Given the description of an element on the screen output the (x, y) to click on. 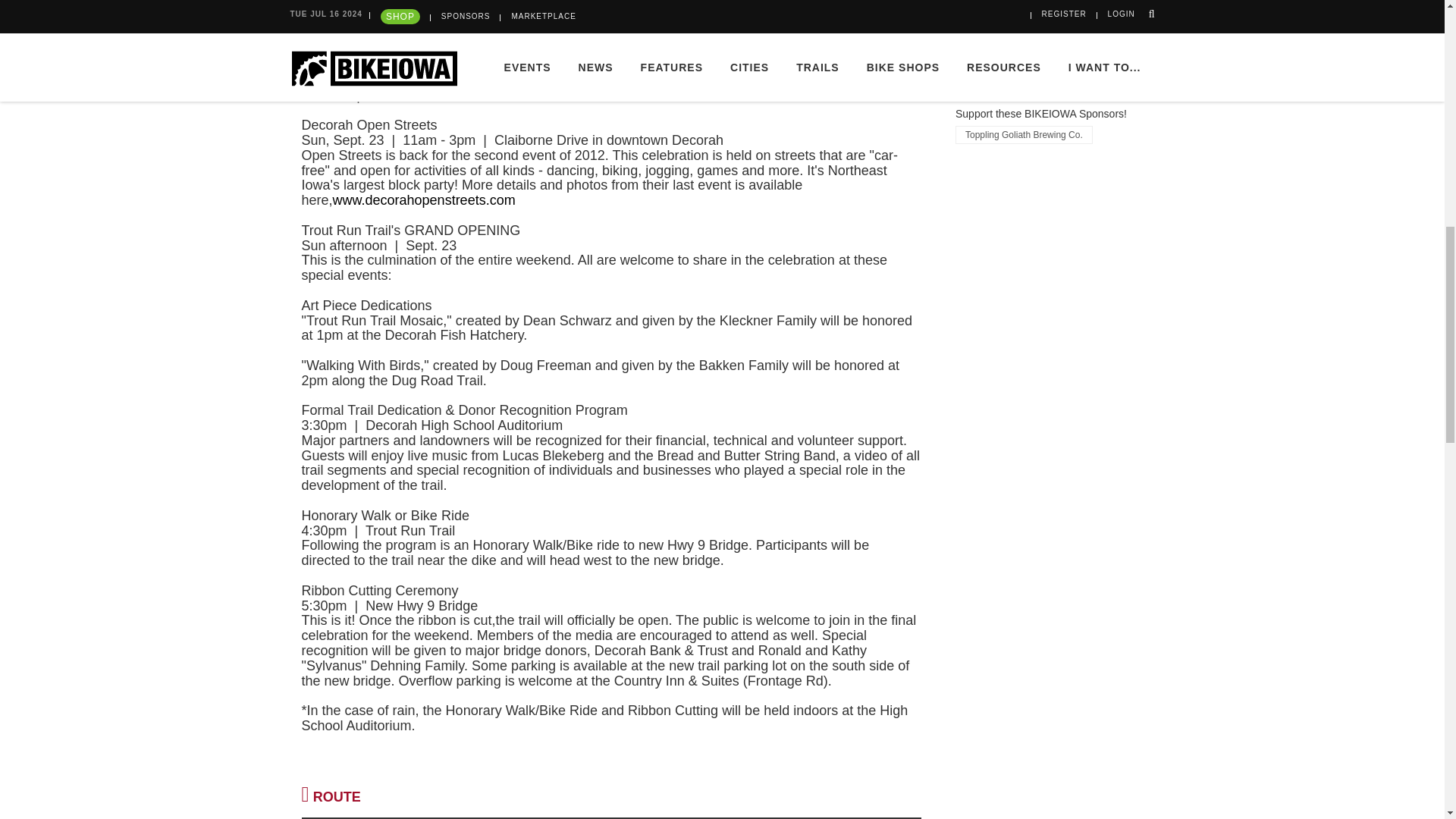
View details about Toppling Goliath Brewing Co. (1024, 135)
